Given the description of an element on the screen output the (x, y) to click on. 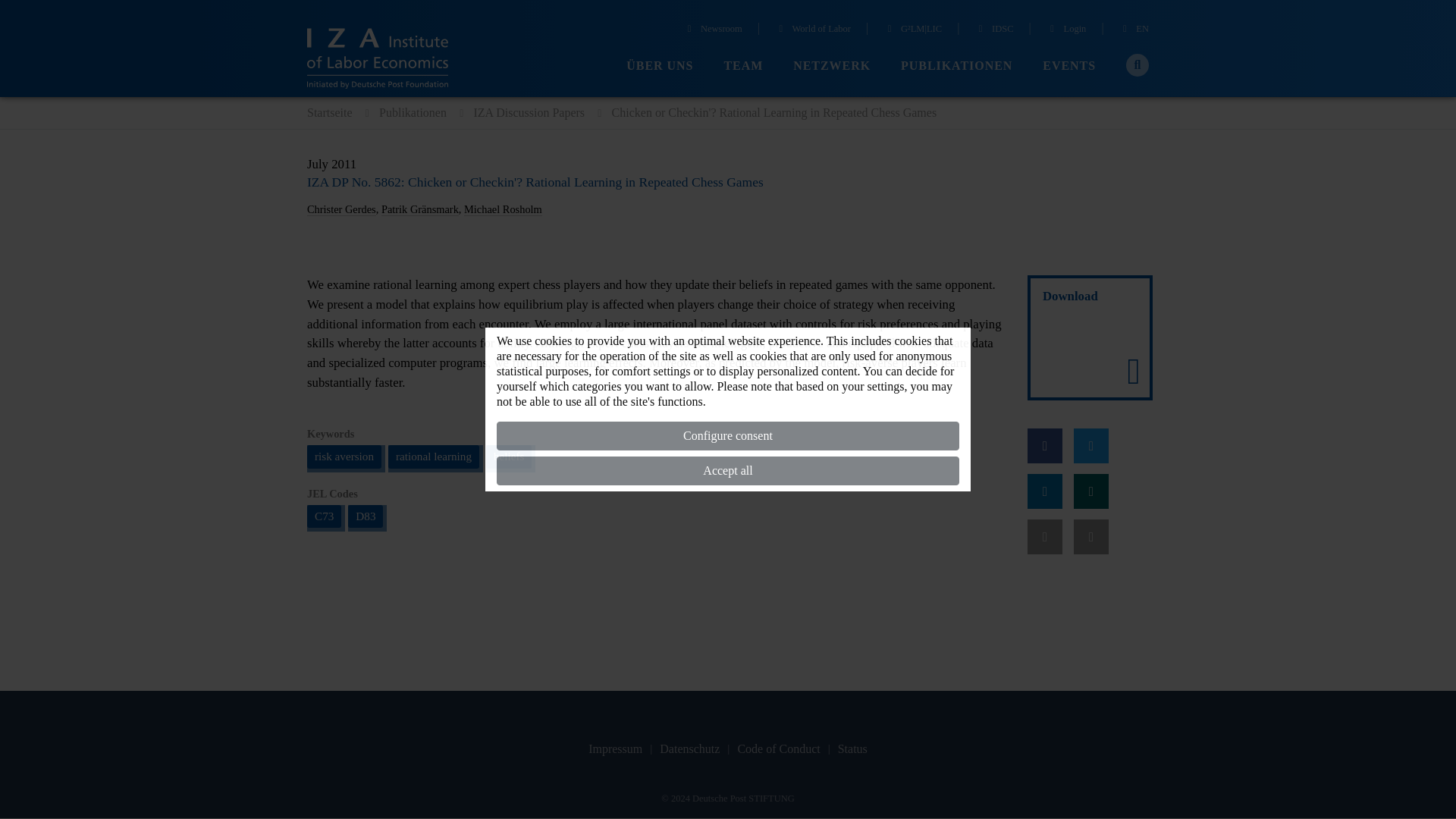
TEAM (742, 66)
NETZWERK (831, 66)
EN (1133, 30)
EVENTS (1069, 66)
IDSC (993, 30)
PUBLIKATIONEN (956, 66)
World of Labor (812, 30)
Login (1066, 30)
Newsroom (712, 30)
